Given the description of an element on the screen output the (x, y) to click on. 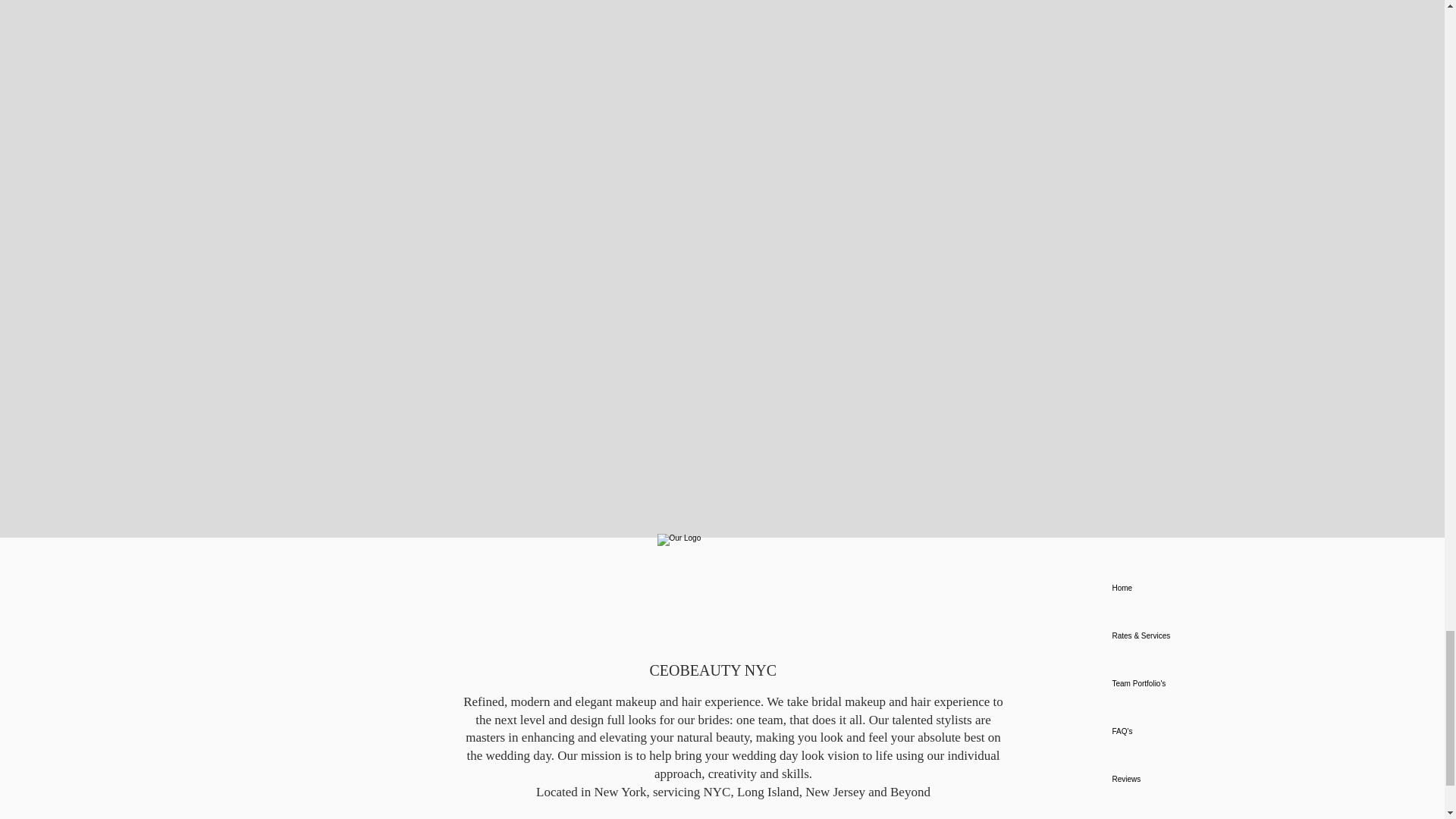
FAQ's (1164, 731)
Home (1164, 587)
Team Portfolio's (1164, 683)
Inquire (1164, 811)
Reviews (1164, 779)
